Given the description of an element on the screen output the (x, y) to click on. 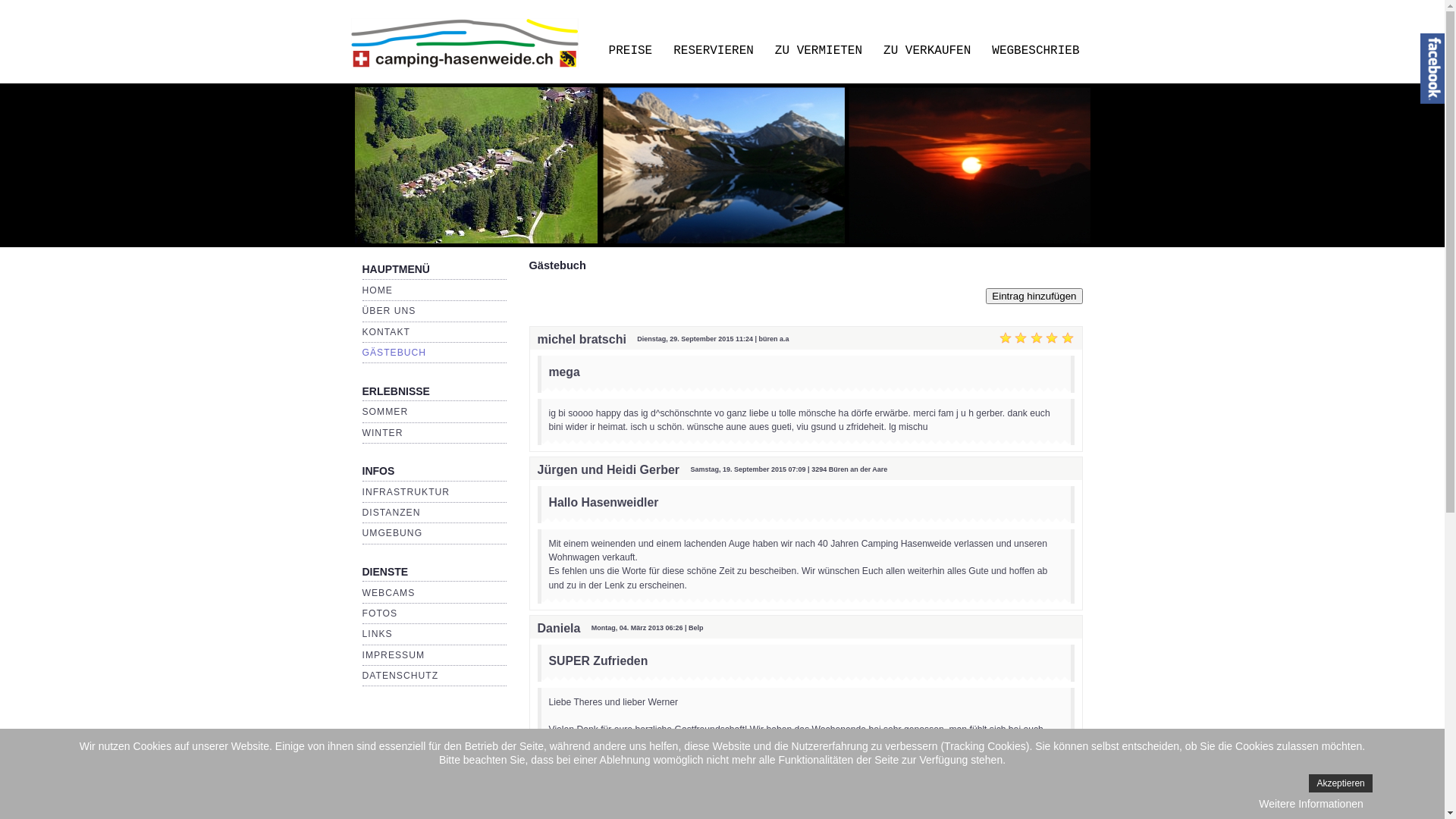
WINTER Element type: text (382, 432)
WEGBESCHRIEB Element type: text (1035, 50)
IMPRESSUM Element type: text (393, 654)
DATENSCHUTZ Element type: text (400, 675)
SOMMER Element type: text (385, 411)
RESERVIEREN Element type: text (713, 50)
LINKS Element type: text (377, 633)
KONTAKT Element type: text (386, 331)
ZU VERKAUFEN Element type: text (926, 50)
WEBCAMS Element type: text (388, 592)
INFRASTRUKTUR Element type: text (406, 491)
FOTOS Element type: text (380, 613)
Akzeptieren Element type: text (1339, 783)
DISTANZEN Element type: text (391, 512)
Weitere Informationen Element type: text (1310, 804)
:) Element type: hover (648, 757)
PREISE Element type: text (630, 50)
UMGEBUNG Element type: text (392, 532)
HOME Element type: text (377, 290)
ZU VERMIETEN Element type: text (818, 50)
